Given the description of an element on the screen output the (x, y) to click on. 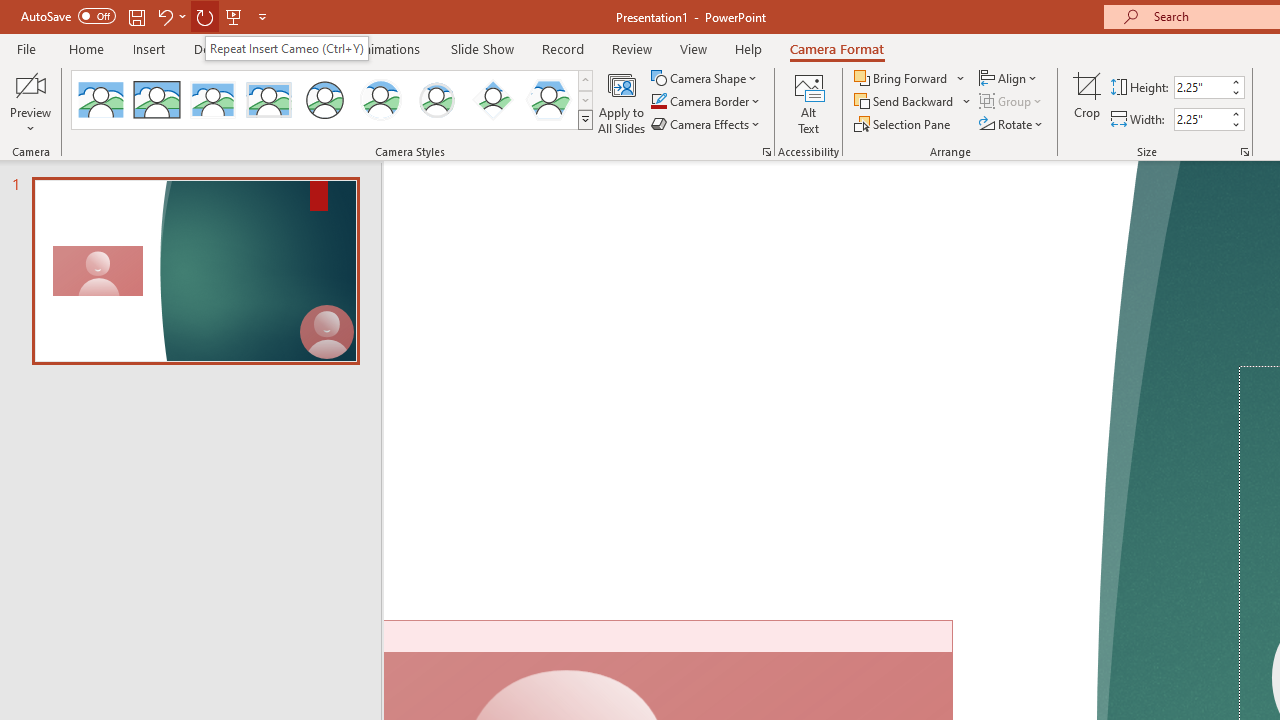
Home (86, 48)
Format Object... (766, 151)
Camera Format (836, 48)
Crop (1087, 102)
Save (136, 15)
Review (631, 48)
Camera Border (706, 101)
AutoSave (68, 16)
AutomationID: CameoStylesGallery (333, 99)
Help (748, 48)
Soft Edge Circle (436, 100)
Row Down (585, 100)
Row up (585, 79)
